Given the description of an element on the screen output the (x, y) to click on. 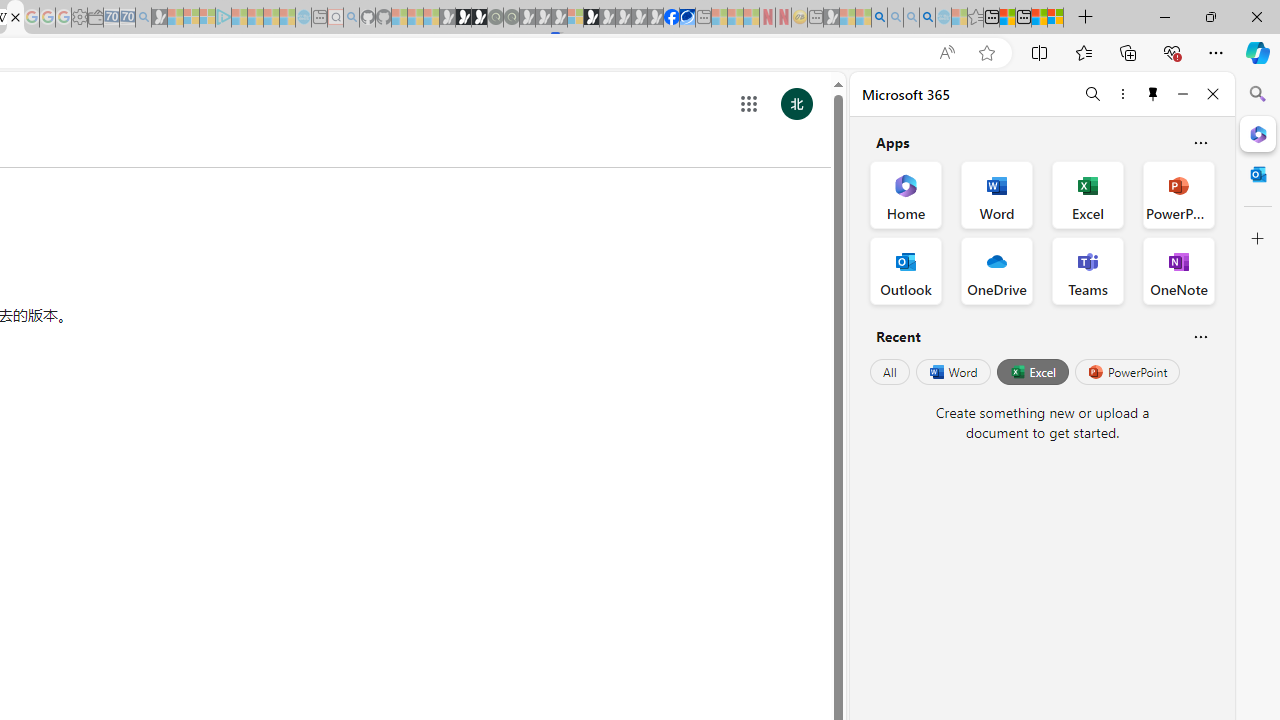
Google Chrome Internet Browser Download - Search Images (927, 17)
Unpin side pane (1153, 93)
Play Zoo Boom in your browser | Games from Microsoft Start (463, 17)
Settings - Sleeping (79, 17)
github - Search - Sleeping (351, 17)
